Given the description of an element on the screen output the (x, y) to click on. 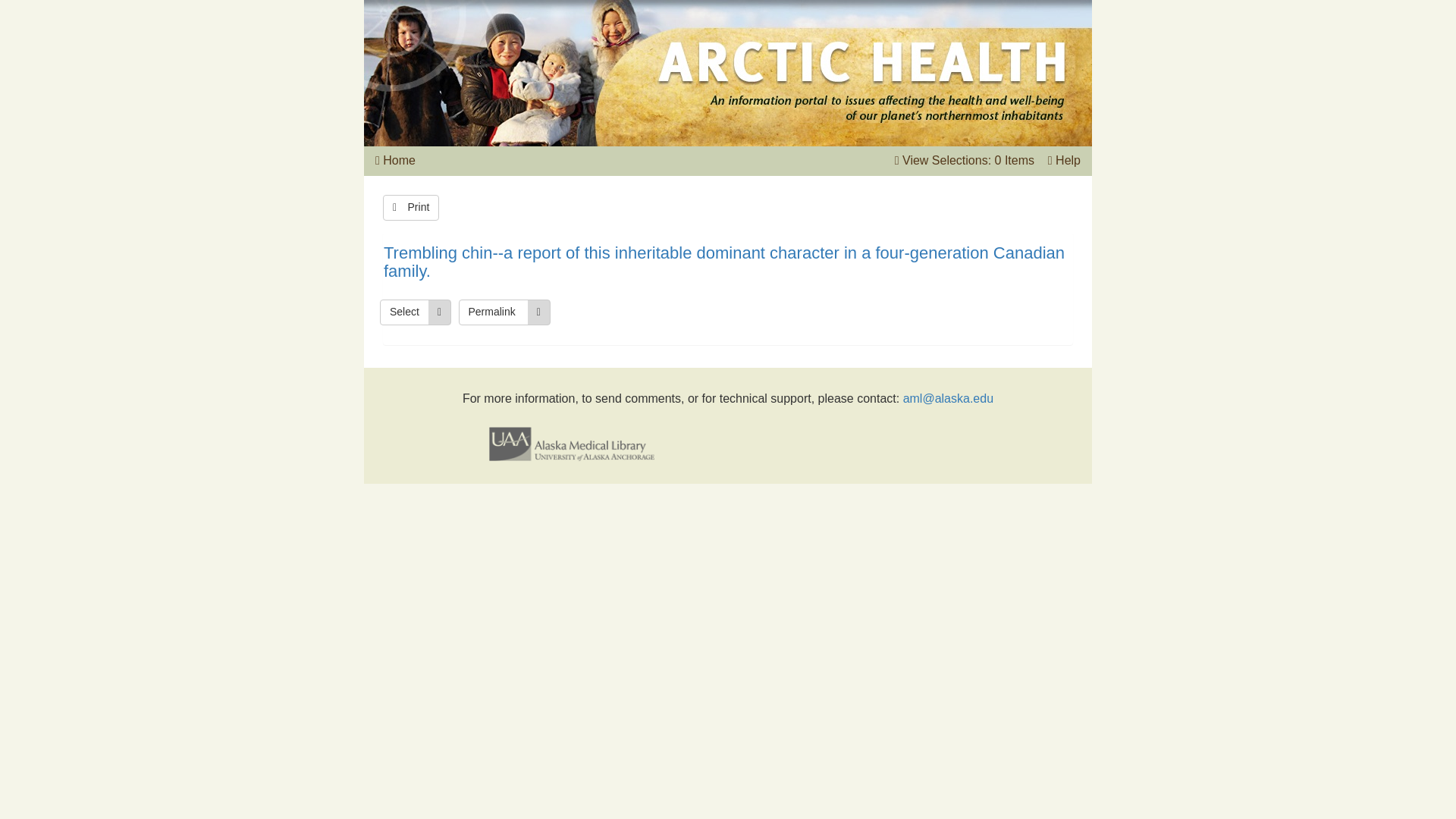
View Selections: 0 Items (967, 160)
Print (410, 207)
Select (415, 312)
Toggle Full Record (727, 262)
Permalink (504, 312)
Select (415, 312)
Help (1067, 160)
Home (398, 160)
Permalink (504, 312)
